Given the description of an element on the screen output the (x, y) to click on. 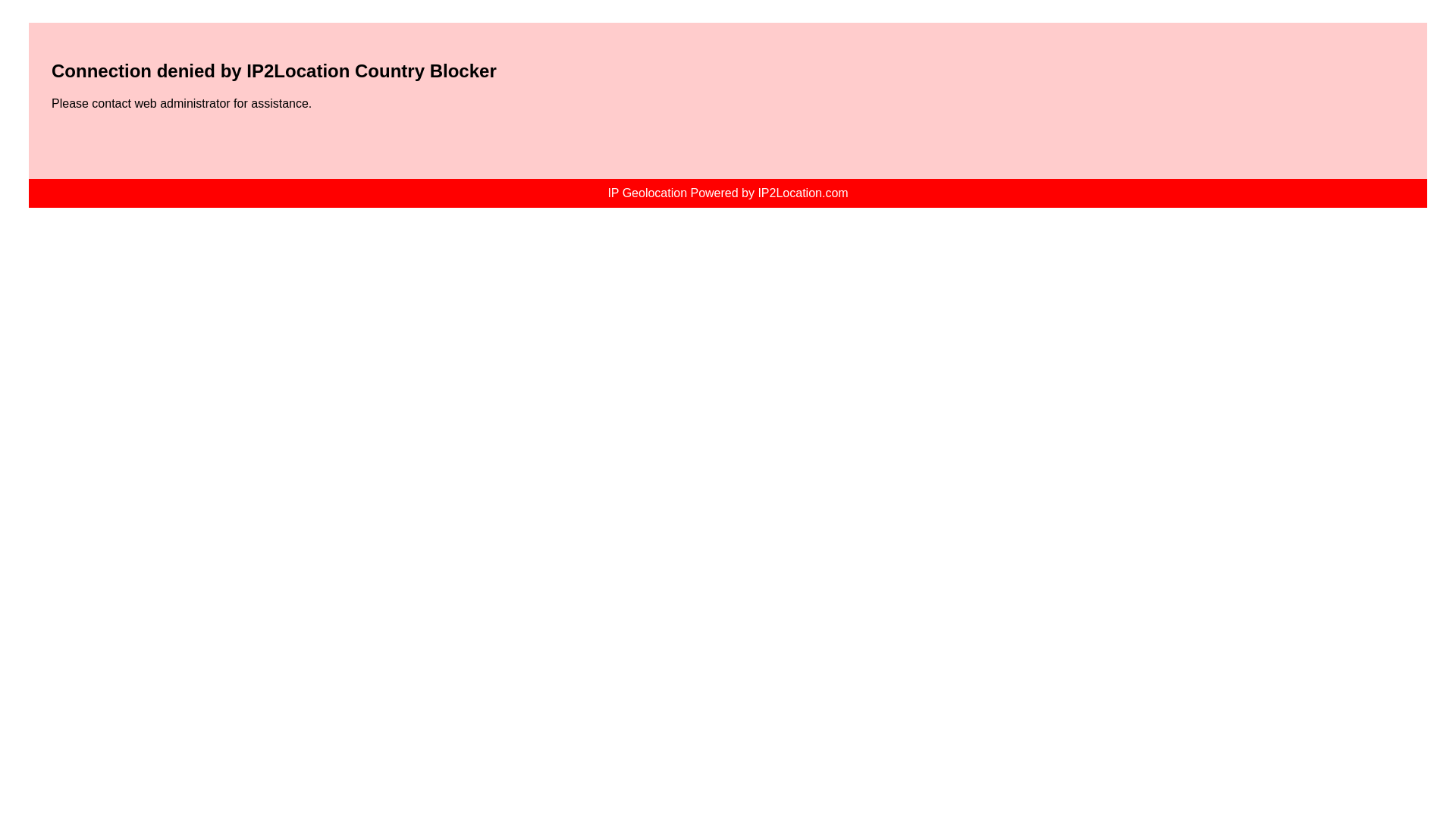
IP Geolocation Powered by IP2Location.com (727, 192)
